Given the description of an element on the screen output the (x, y) to click on. 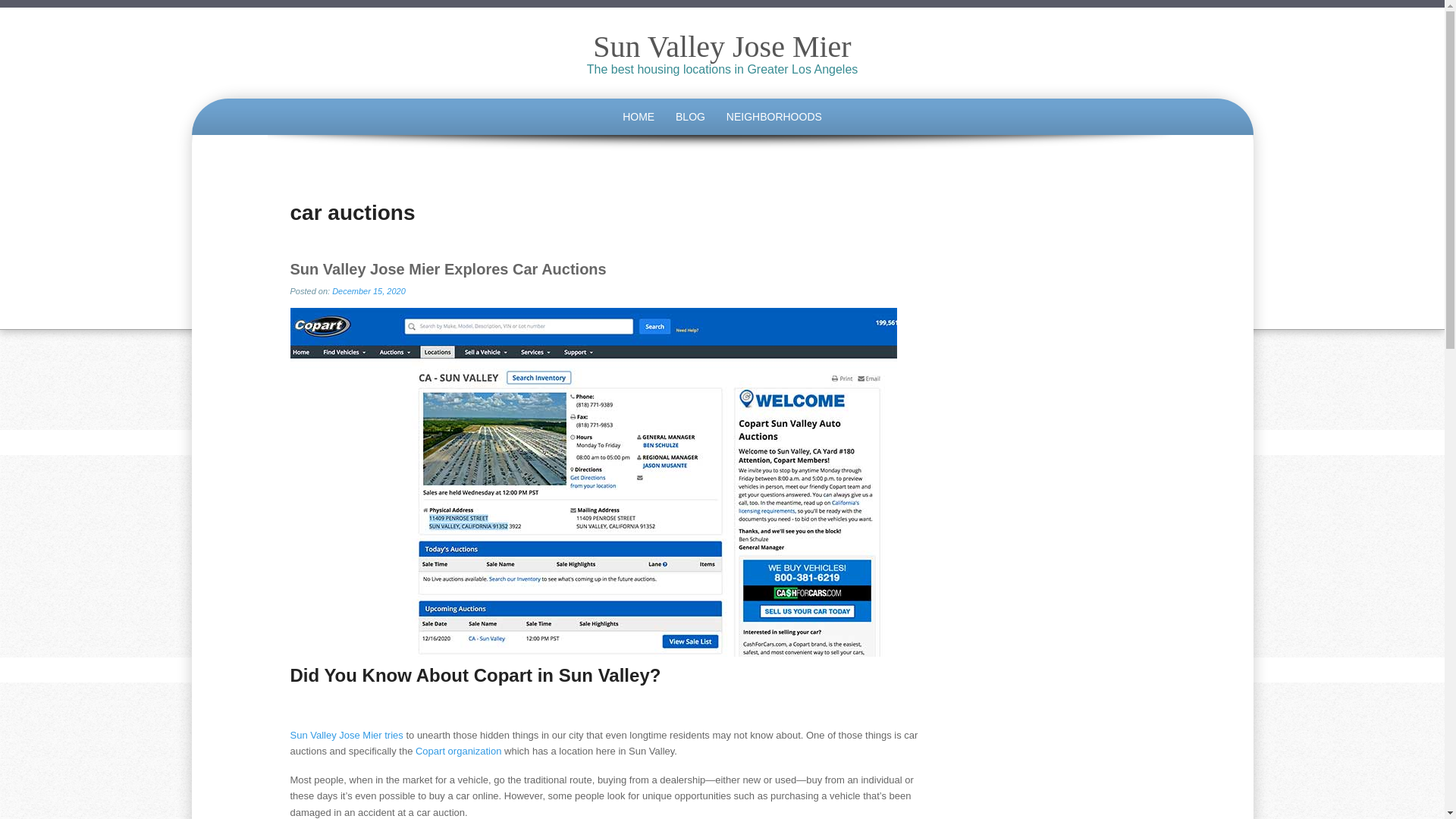
Sun Valley Jose Mier Explores Car Auctions (447, 269)
SKIP TO CONTENT (293, 101)
HOME (637, 116)
Copart organization (457, 750)
Sun Valley Jose Mier (721, 46)
BLOG (690, 116)
Sun Valley Jose Mier tries (346, 735)
Sun Valley Jose Mier Explores Car Auctions (447, 269)
NEIGHBORHOODS (774, 116)
December 15, 2020 (368, 290)
